Given the description of an element on the screen output the (x, y) to click on. 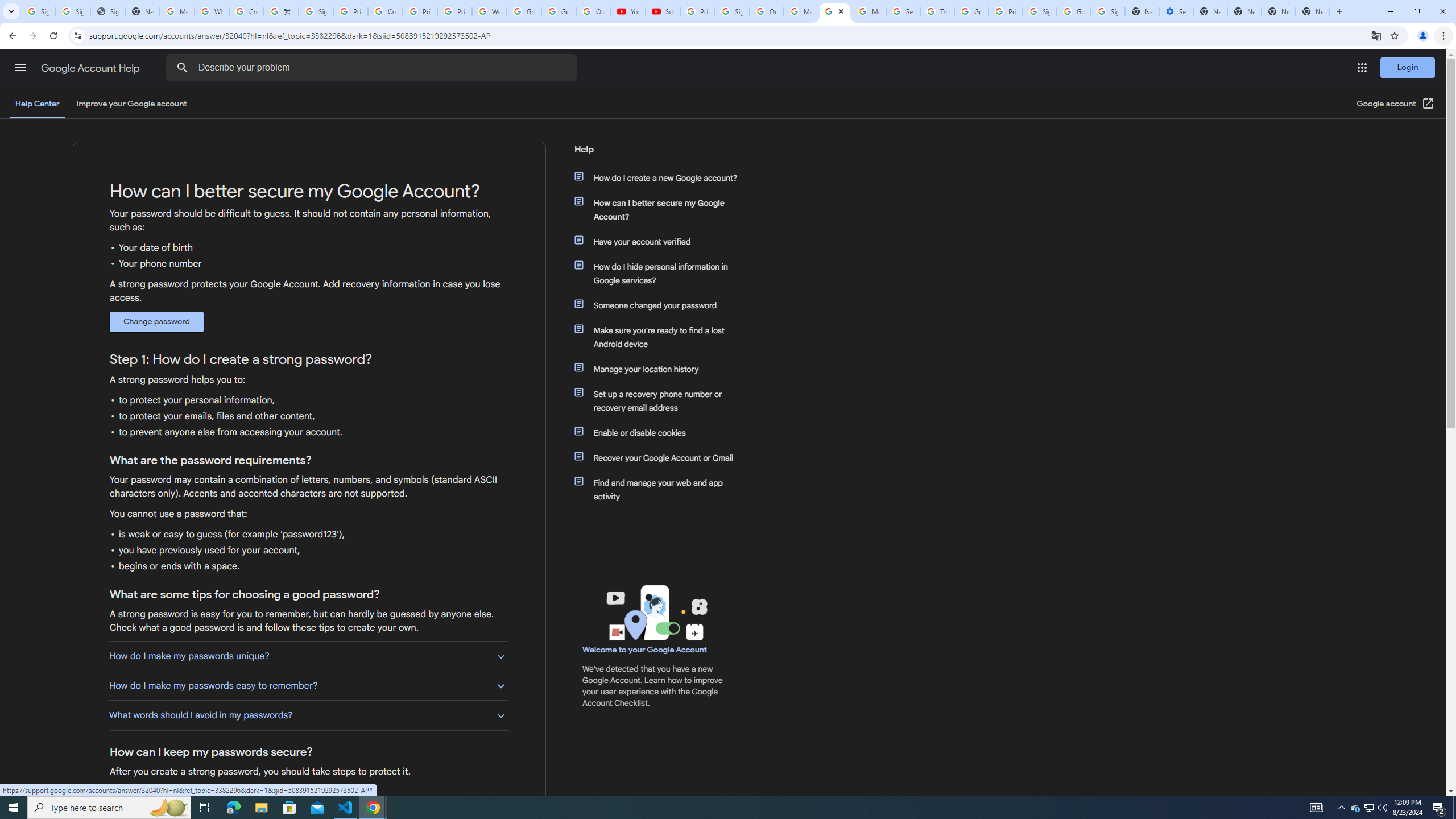
Search our Doodle Library Collection - Google Doodles (903, 11)
YouTube (627, 11)
Enable or disable cookies (661, 432)
Google Account (557, 11)
How do I make my passwords unique? (308, 655)
Manage your location history (661, 368)
Trusted Information and Content - Google Safety Center (937, 11)
